Given the description of an element on the screen output the (x, y) to click on. 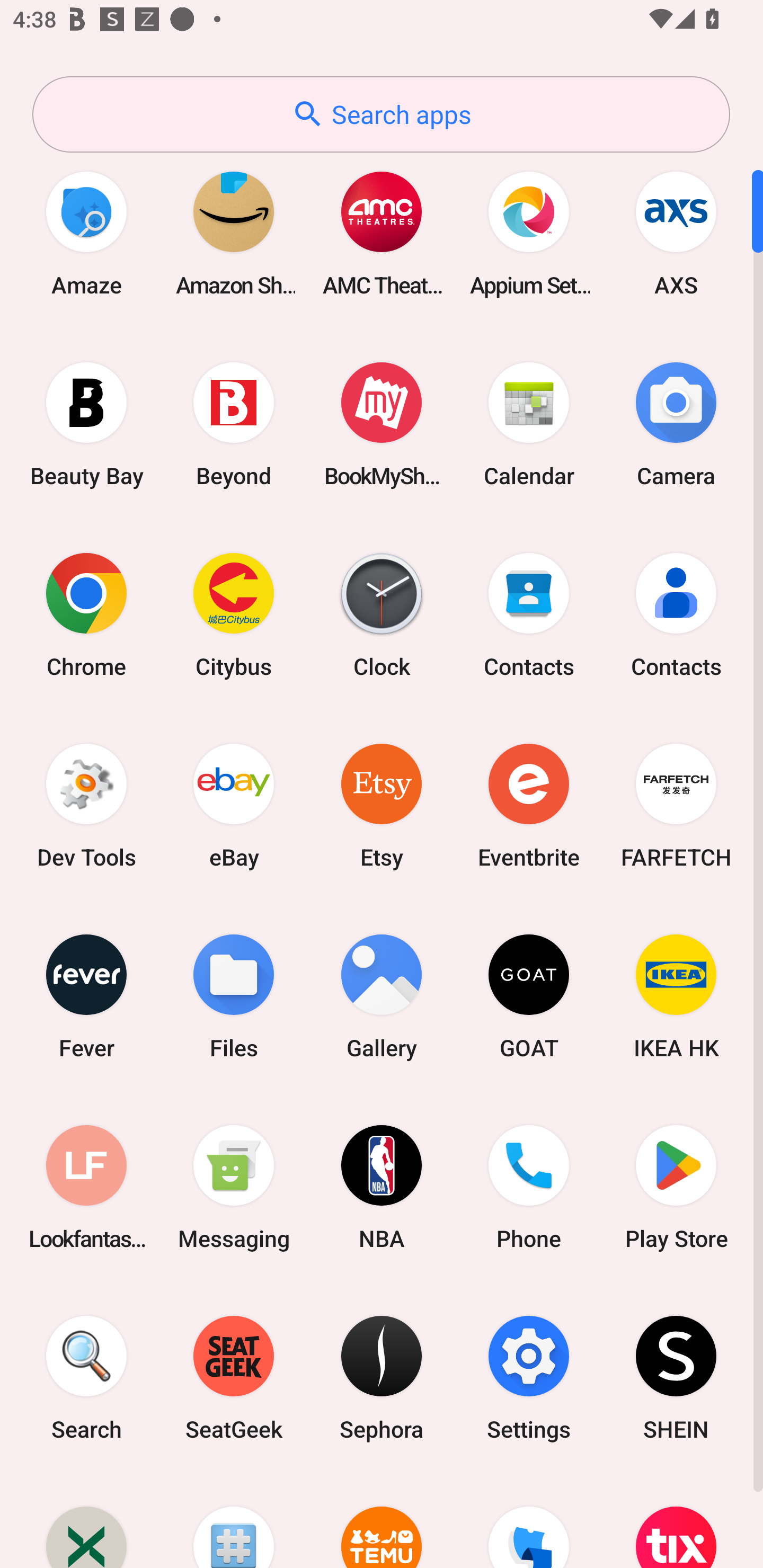
  Search apps (381, 114)
Amaze (86, 233)
Amazon Shopping (233, 233)
AMC Theatres (381, 233)
Appium Settings (528, 233)
AXS (676, 233)
Beauty Bay (86, 424)
Beyond (233, 424)
BookMyShow (381, 424)
Calendar (528, 424)
Camera (676, 424)
Chrome (86, 614)
Citybus (233, 614)
Clock (381, 614)
Contacts (528, 614)
Contacts (676, 614)
Dev Tools (86, 805)
eBay (233, 805)
Etsy (381, 805)
Eventbrite (528, 805)
FARFETCH (676, 805)
Fever (86, 996)
Files (233, 996)
Gallery (381, 996)
GOAT (528, 996)
IKEA HK (676, 996)
Lookfantastic (86, 1186)
Messaging (233, 1186)
NBA (381, 1186)
Phone (528, 1186)
Play Store (676, 1186)
Search (86, 1377)
SeatGeek (233, 1377)
Sephora (381, 1377)
Settings (528, 1377)
SHEIN (676, 1377)
StockX (86, 1520)
Superuser (233, 1520)
Temu (381, 1520)
TickPick (528, 1520)
TodayTix (676, 1520)
